Given the description of an element on the screen output the (x, y) to click on. 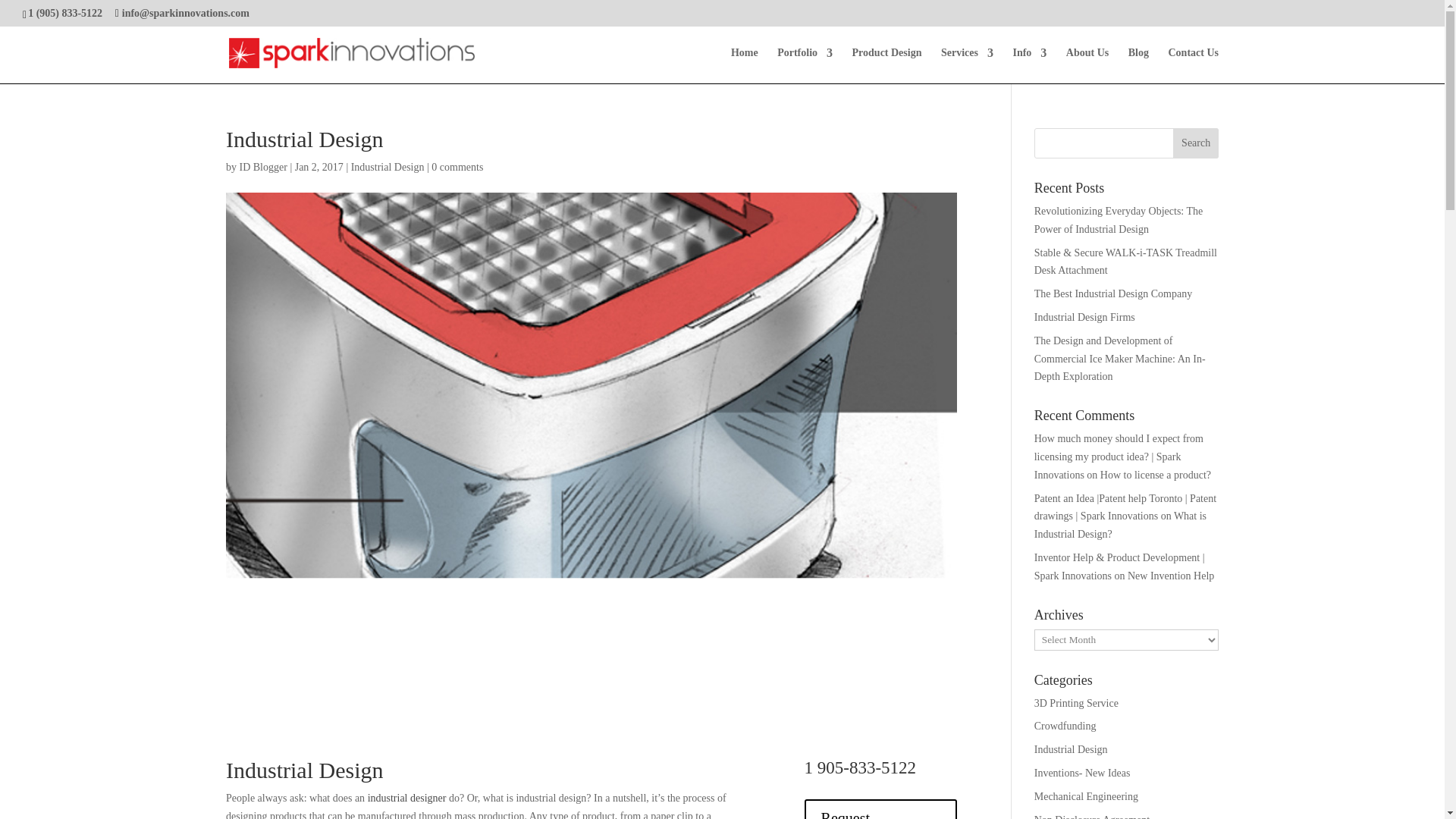
About Us (1086, 65)
Product Design (886, 65)
Contact Us (1192, 65)
Portfolio (804, 65)
Posts by ID Blogger (263, 166)
Search (1195, 142)
Services (966, 65)
Info (1028, 65)
